Given the description of an element on the screen output the (x, y) to click on. 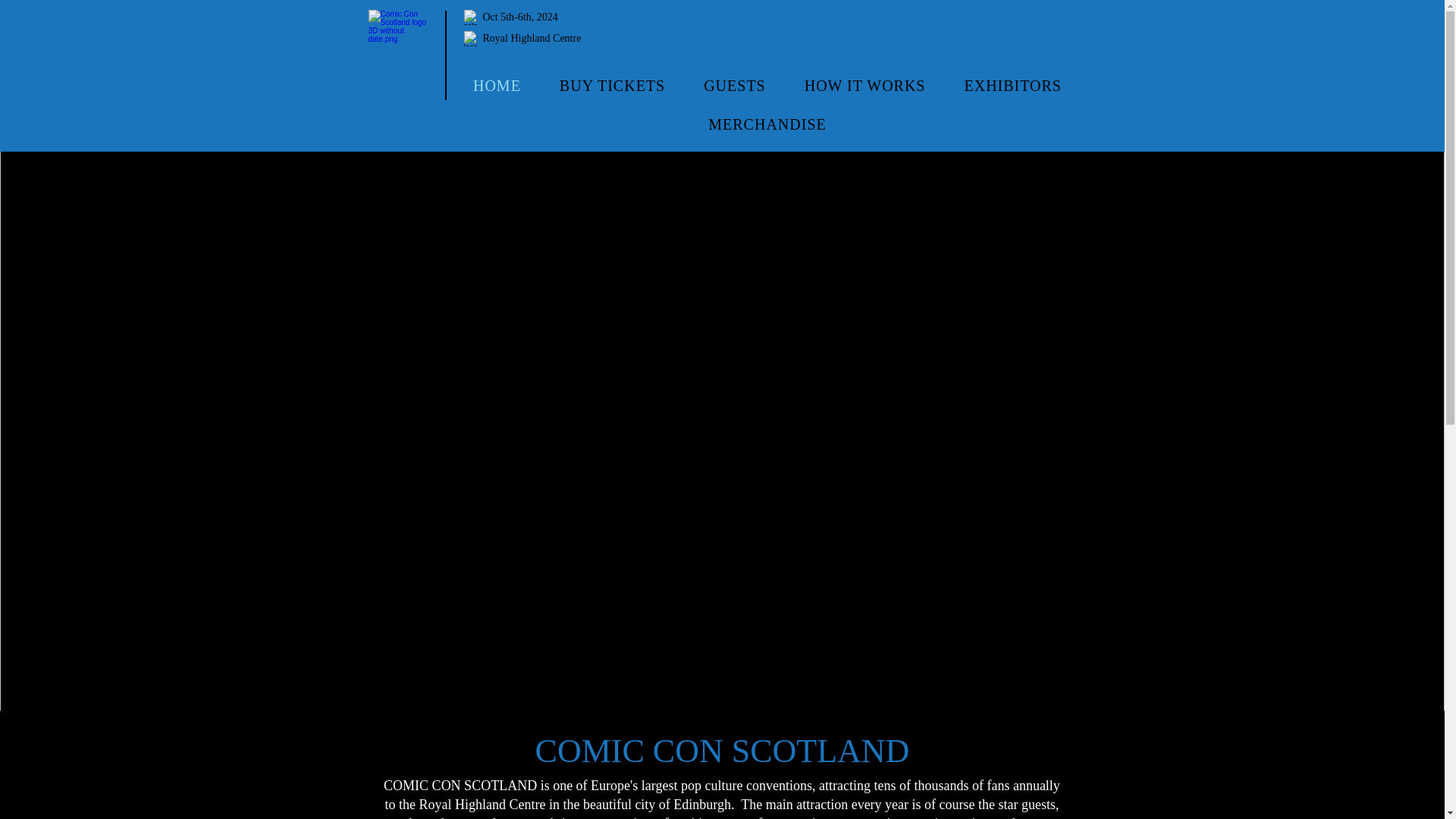
GUESTS (735, 85)
HOME (497, 85)
